Given the description of an element on the screen output the (x, y) to click on. 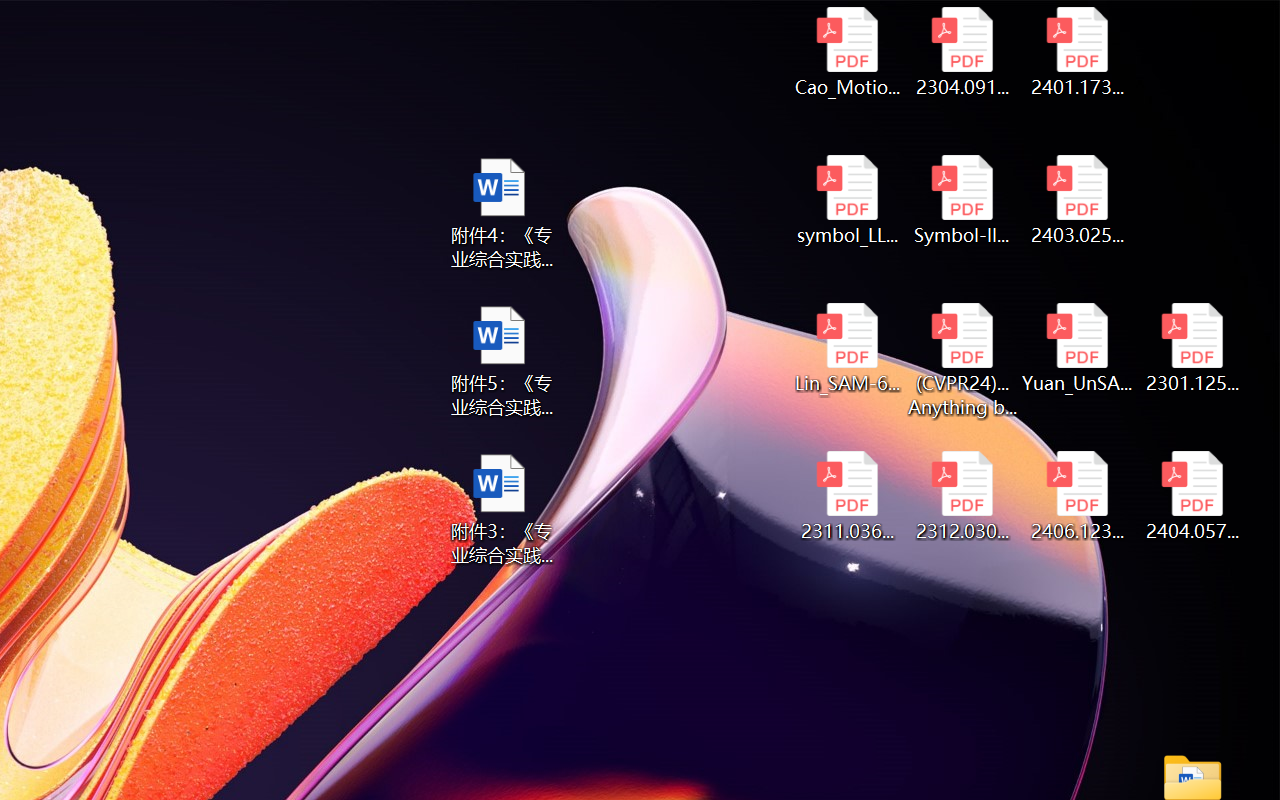
symbol_LLM.pdf (846, 200)
2403.02502v1.pdf (1077, 200)
2406.12373v2.pdf (1077, 496)
2401.17399v1.pdf (1077, 52)
2312.03032v2.pdf (962, 496)
2311.03658v2.pdf (846, 496)
2301.12597v3.pdf (1192, 348)
(CVPR24)Matching Anything by Segmenting Anything.pdf (962, 360)
2404.05719v1.pdf (1192, 496)
